Given the description of an element on the screen output the (x, y) to click on. 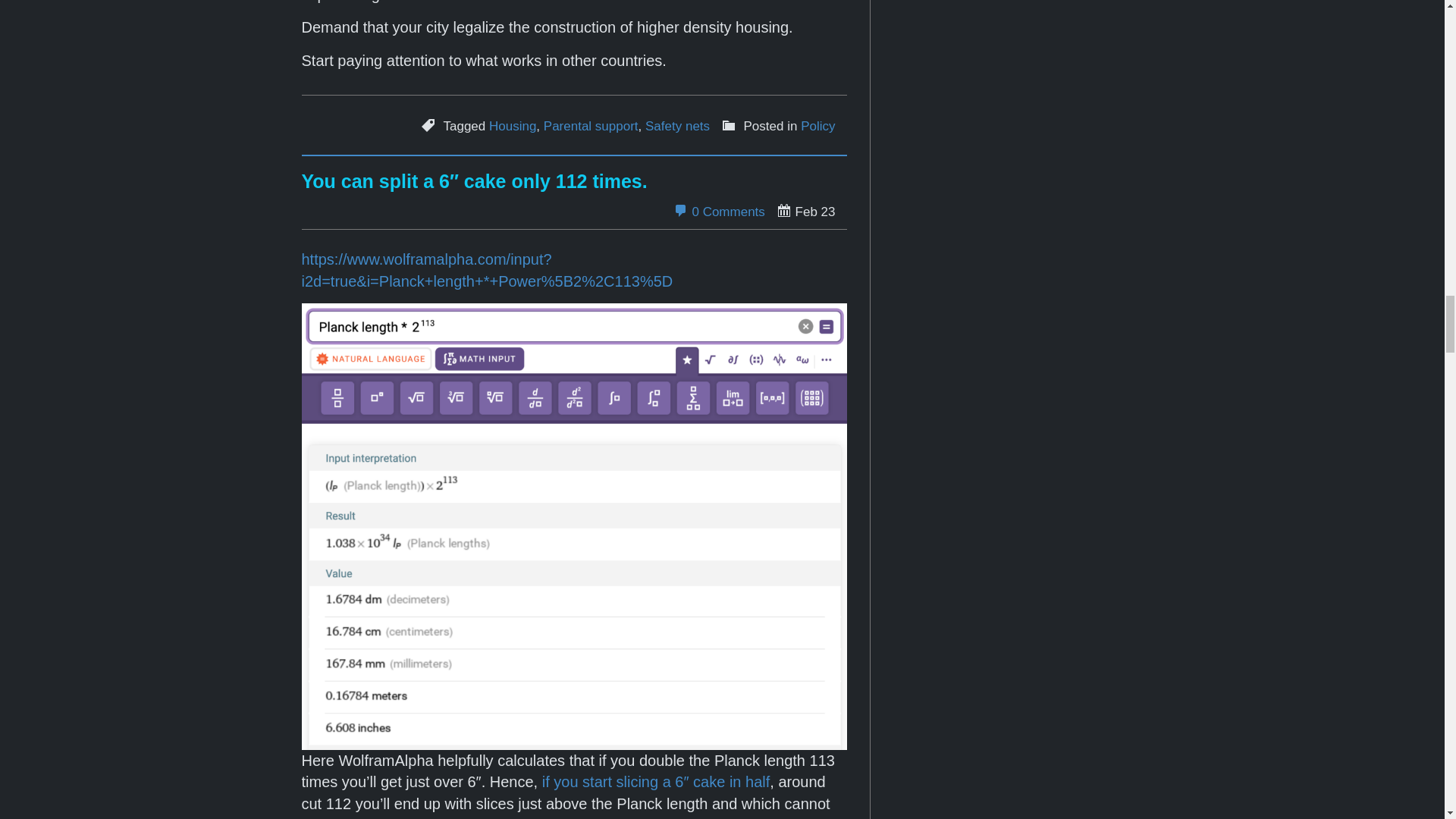
Friday, February 23, 2024 12:54 pm (805, 210)
